Given the description of an element on the screen output the (x, y) to click on. 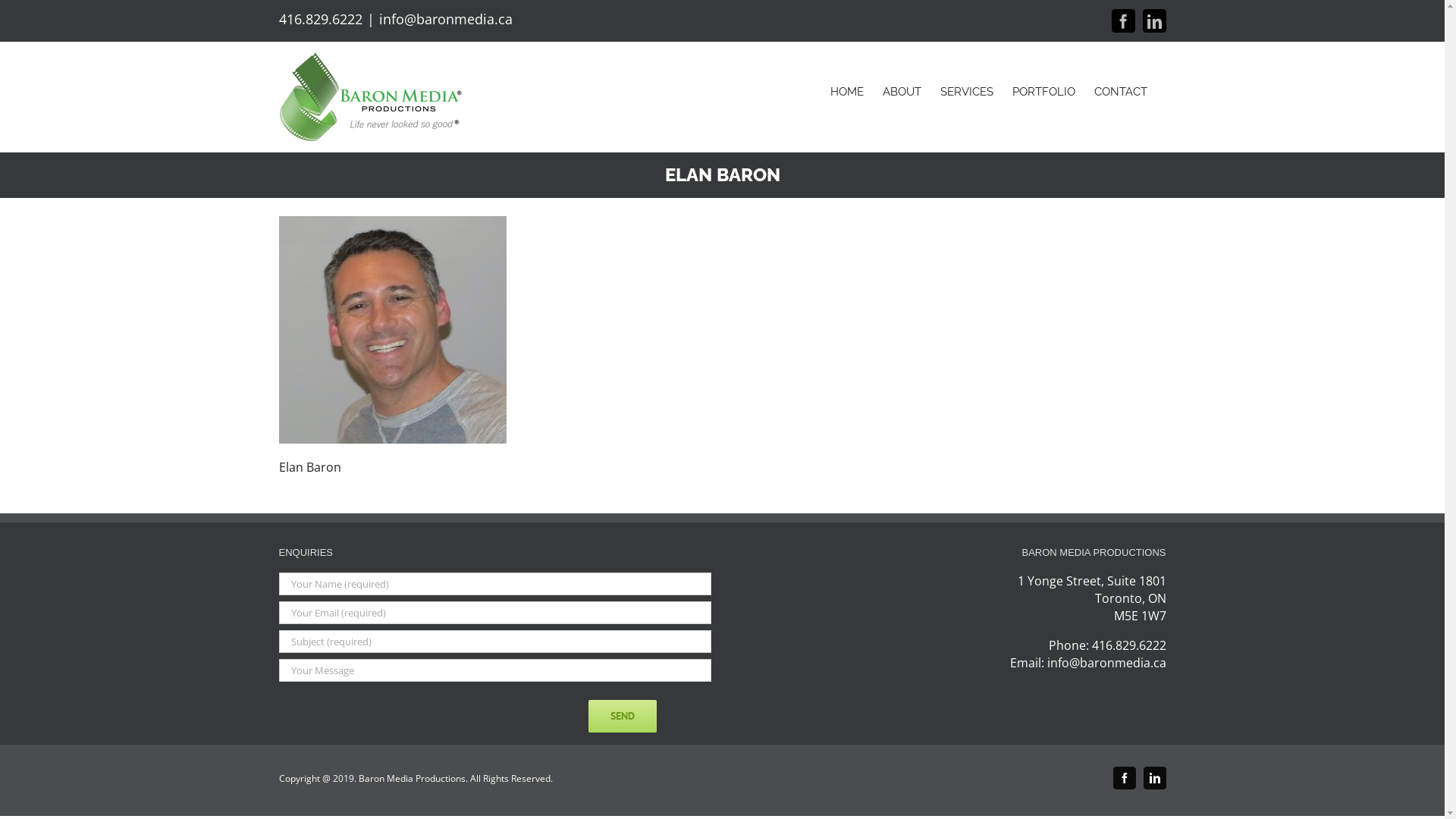
ABOUT Element type: text (901, 91)
PORTFOLIO Element type: text (1042, 91)
Send Element type: text (622, 715)
CONTACT Element type: text (1119, 91)
info@baronmedia.ca Element type: text (445, 18)
Facebook Element type: text (1123, 20)
info@baronmedia.ca Element type: text (1105, 662)
HOME Element type: text (845, 91)
SERVICES Element type: text (966, 91)
416.829.6222 Element type: text (320, 18)
Facebook Element type: text (1124, 777)
LinkedIn Element type: text (1153, 20)
LinkedIn Element type: text (1154, 777)
